Given the description of an element on the screen output the (x, y) to click on. 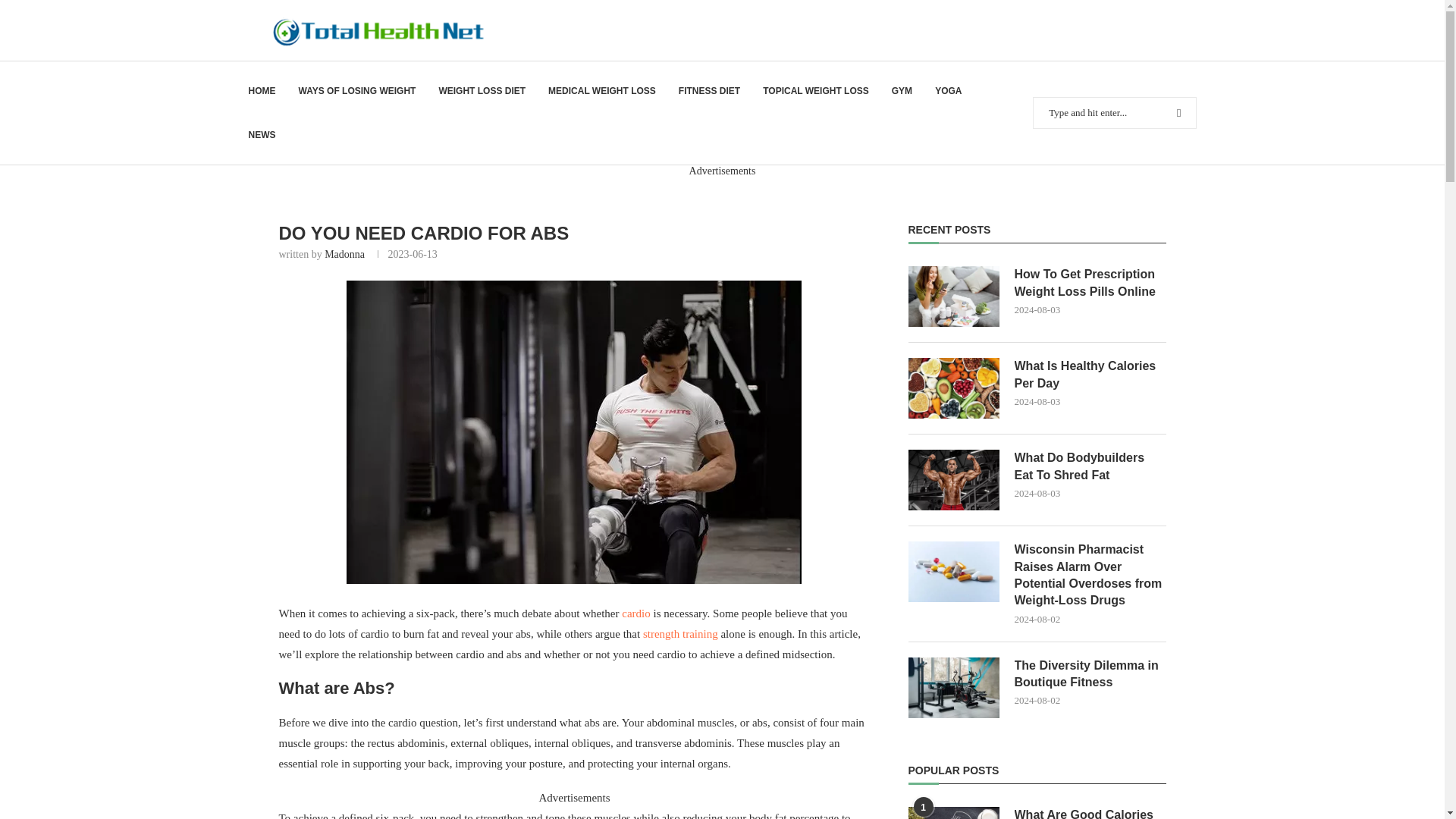
HOME (262, 90)
MEDICAL WEIGHT LOSS (602, 90)
WAYS OF LOSING WEIGHT (357, 90)
What Is Healthy Calories Per Day (1090, 374)
TOPICAL WEIGHT LOSS (815, 90)
NEWS (262, 135)
How To Get Prescription Weight Loss Pills Online (953, 296)
What Is Healthy Calories Per Day (953, 387)
What Do Bodybuilders Eat To Shred Fat (953, 479)
FITNESS DIET (708, 90)
YOGA (947, 90)
GYM (901, 90)
WEIGHT LOSS DIET (481, 90)
